Given the description of an element on the screen output the (x, y) to click on. 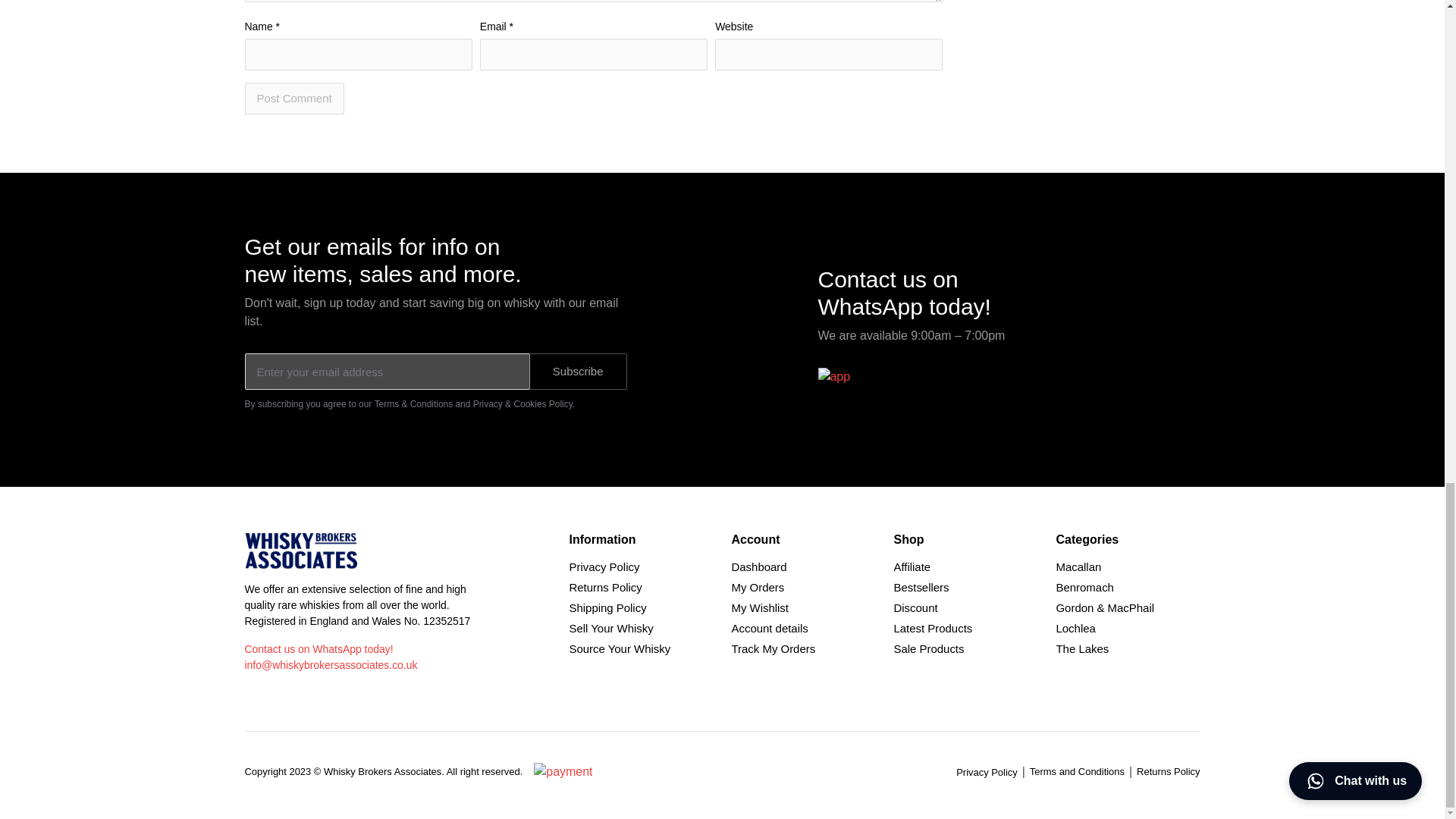
Post Comment (293, 98)
Subscribe (578, 370)
Post Comment (293, 98)
